Given the description of an element on the screen output the (x, y) to click on. 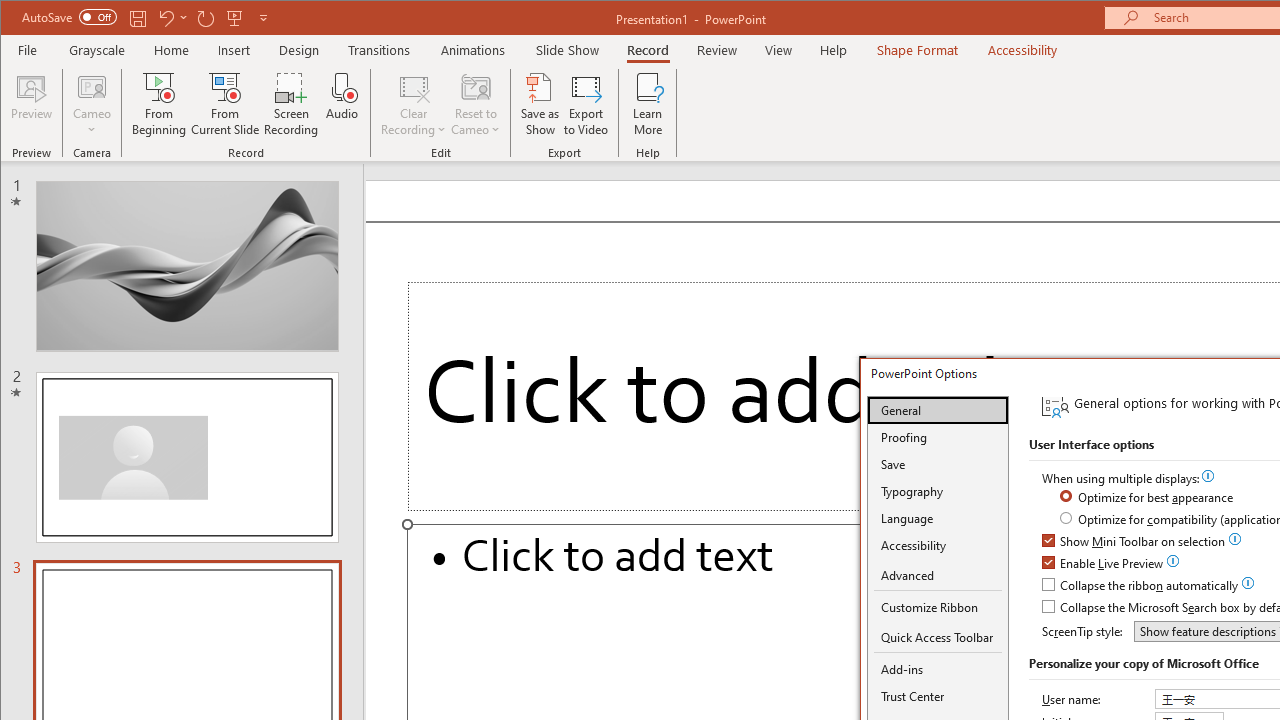
Screen Recording (291, 104)
Enable Live Preview (1104, 564)
